Given the description of an element on the screen output the (x, y) to click on. 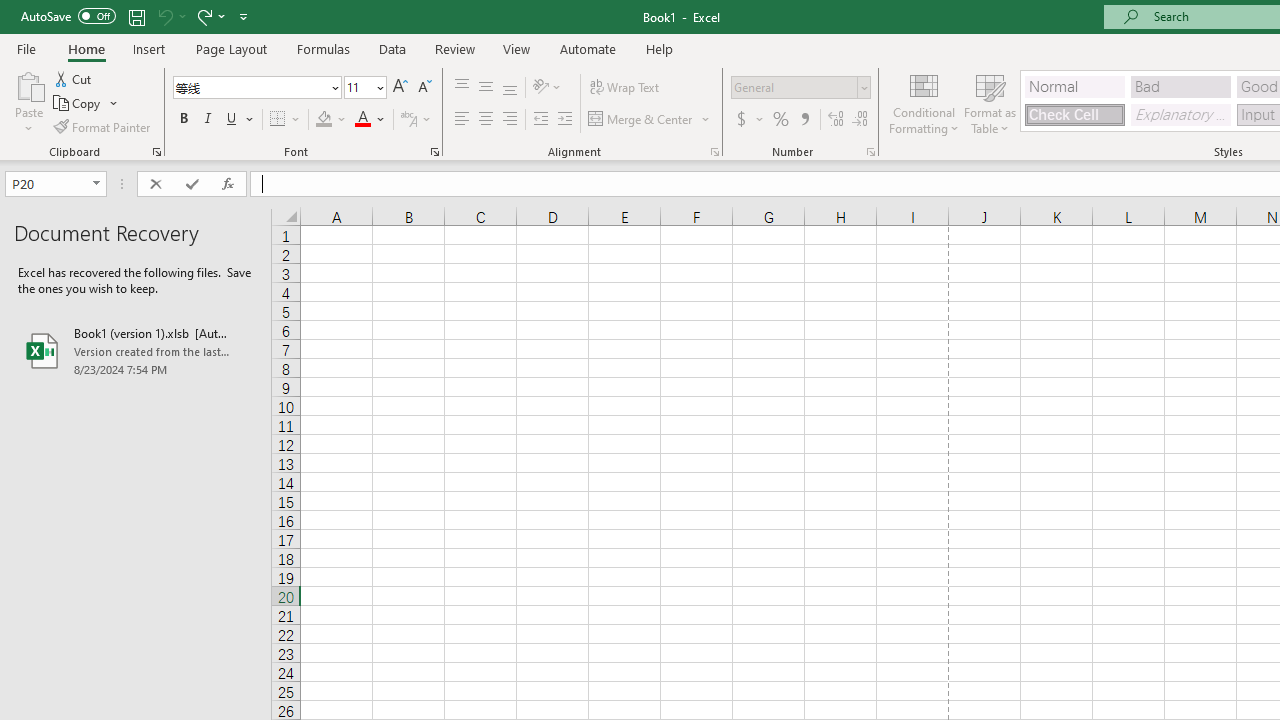
Accounting Number Format (749, 119)
Font Size (358, 87)
Underline (232, 119)
Fill Color (331, 119)
Italic (207, 119)
